Given the description of an element on the screen output the (x, y) to click on. 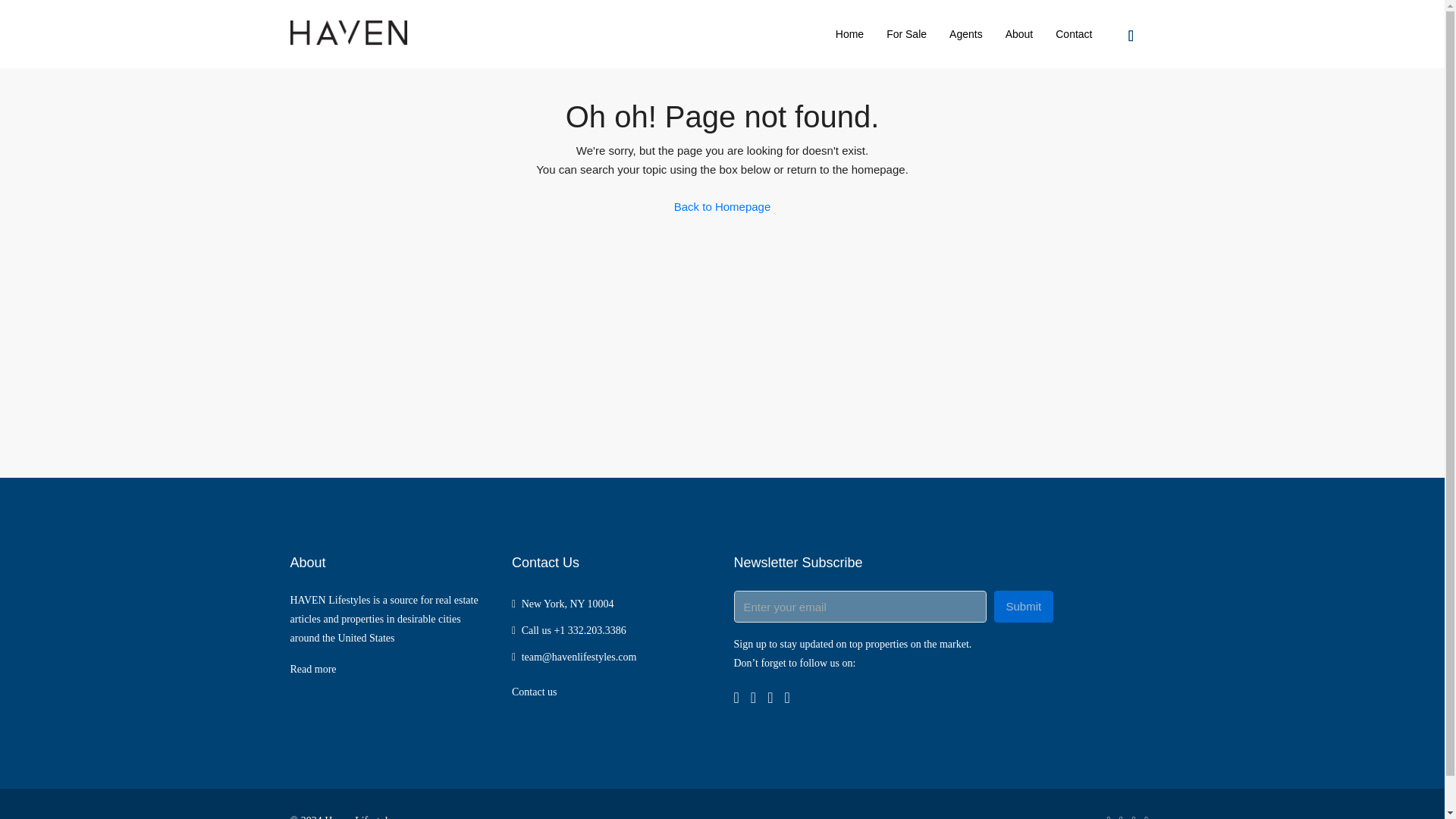
Submit (1022, 606)
Contact us (534, 691)
For Sale (906, 33)
Back to Homepage (722, 206)
Read more (312, 668)
